Given the description of an element on the screen output the (x, y) to click on. 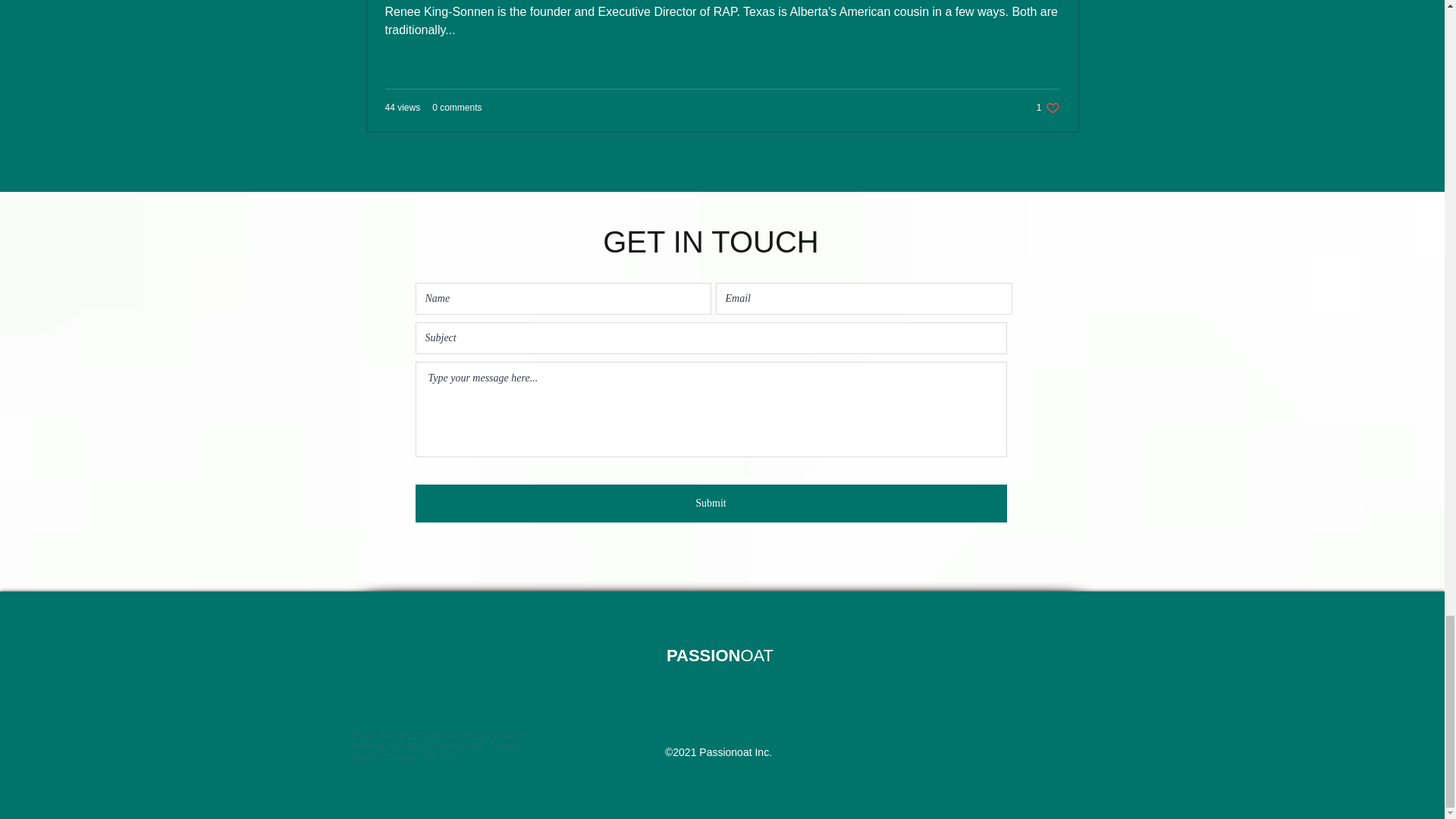
Submit (710, 503)
PASSIONOAT (719, 655)
0 comments (456, 107)
